Given the description of an element on the screen output the (x, y) to click on. 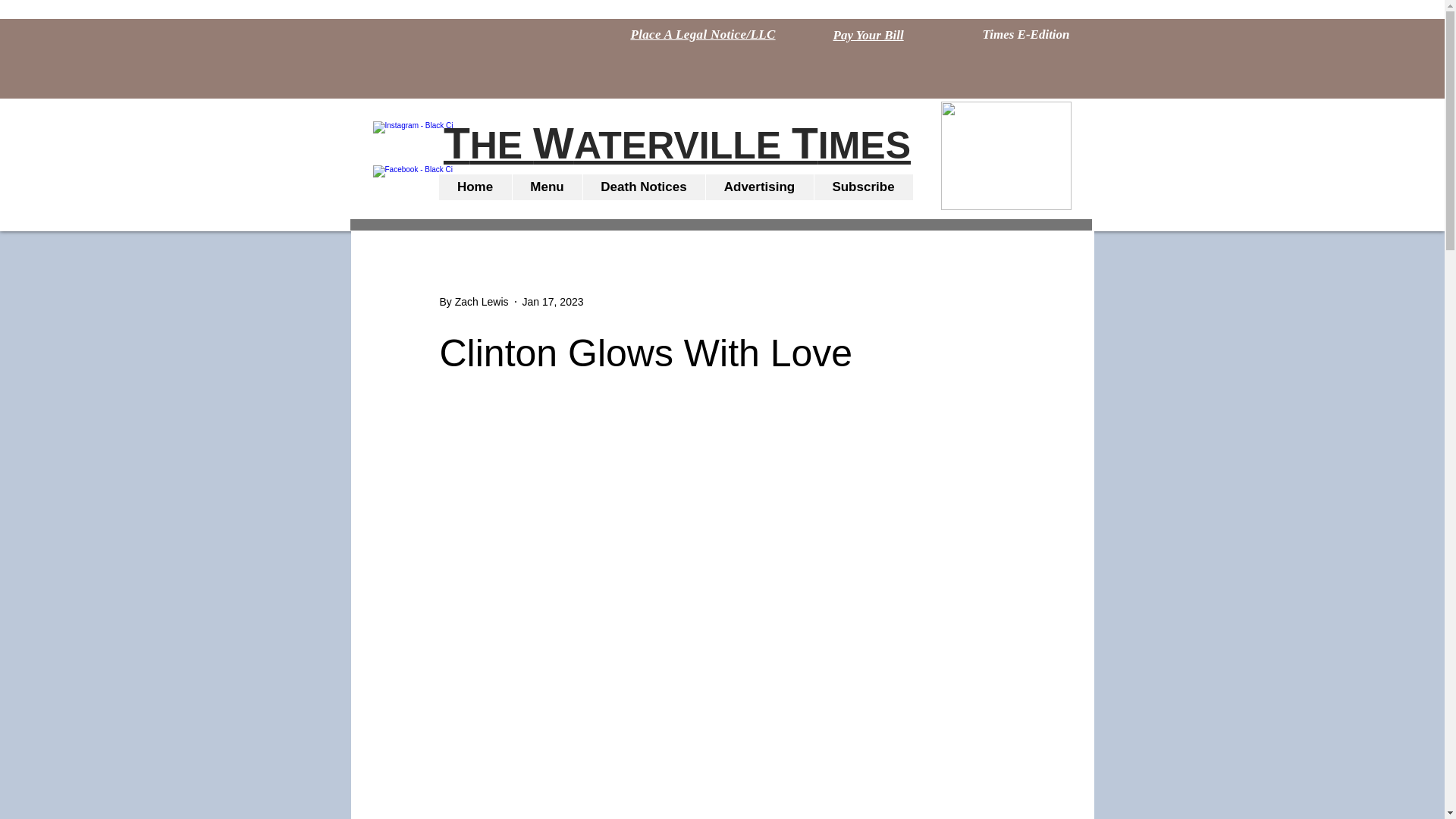
Pay Your Bill (867, 34)
THE WATERVILLE TIMES (677, 145)
By Zach Lewis (473, 302)
Death Notices (643, 186)
By Zach Lewis (473, 302)
Jan 17, 2023 (552, 301)
Times E-Edition (1025, 34)
Subscribe (862, 186)
Advertising (758, 186)
Menu (545, 186)
